Given the description of an element on the screen output the (x, y) to click on. 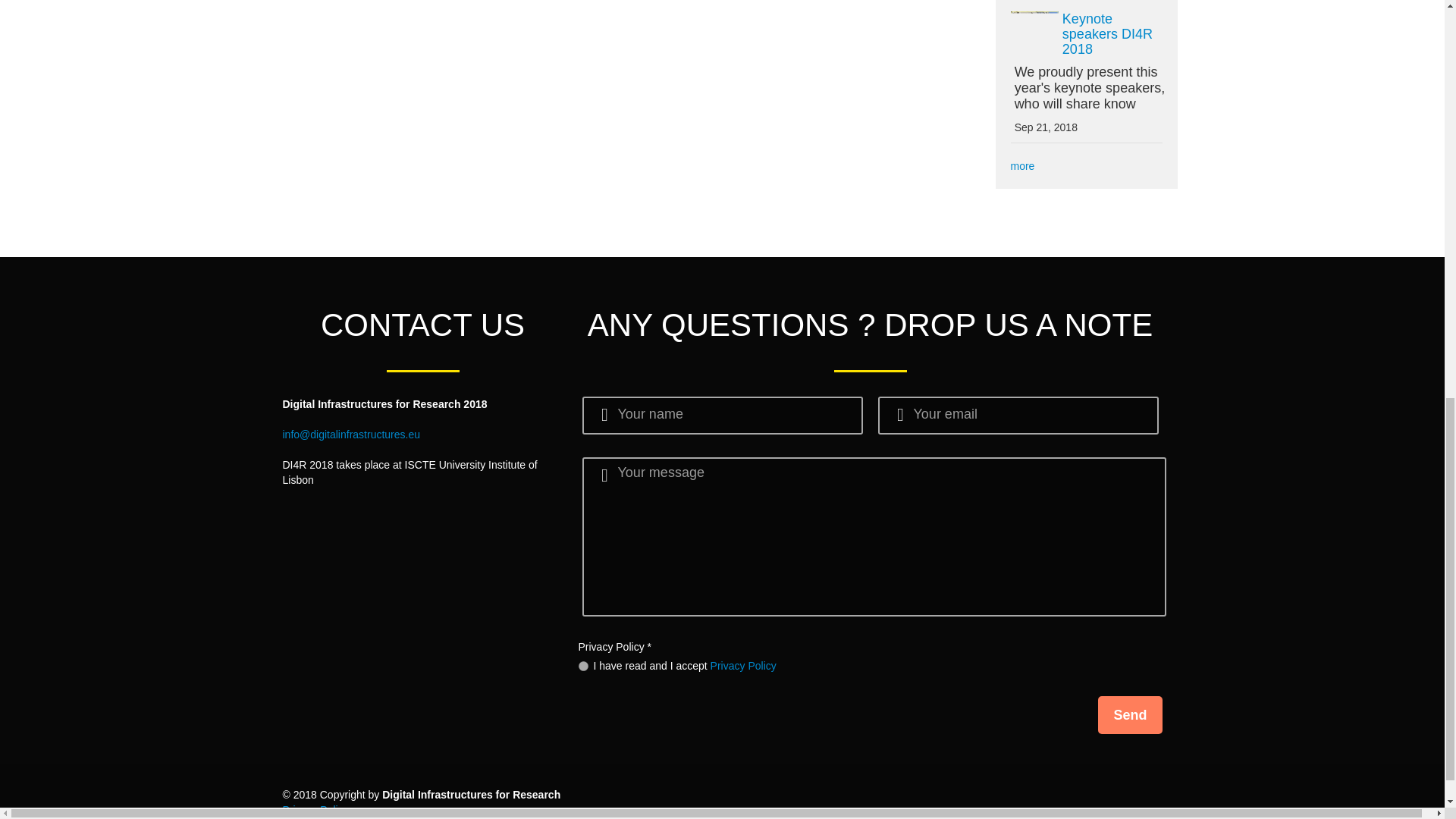
Accept Privacy Policy (583, 665)
Keynote speakers DI4R 2018 (1107, 33)
